Given the description of an element on the screen output the (x, y) to click on. 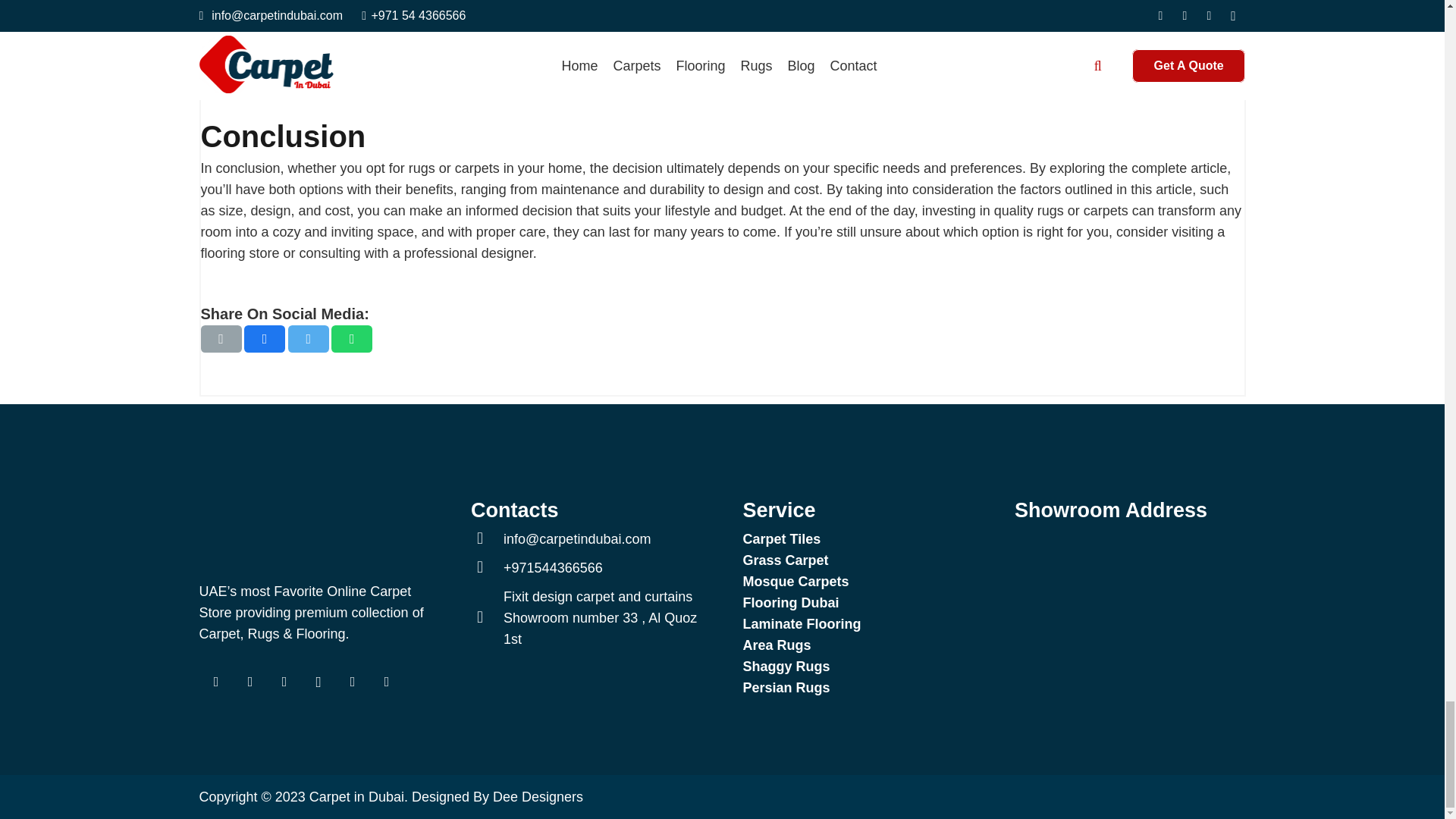
Facebook (215, 682)
Share this (351, 338)
Pinterest (351, 682)
Instagram (318, 682)
Twitter (249, 682)
LinkedIn (283, 682)
Tweet this (308, 338)
Share this (264, 338)
Email this (220, 338)
